Given the description of an element on the screen output the (x, y) to click on. 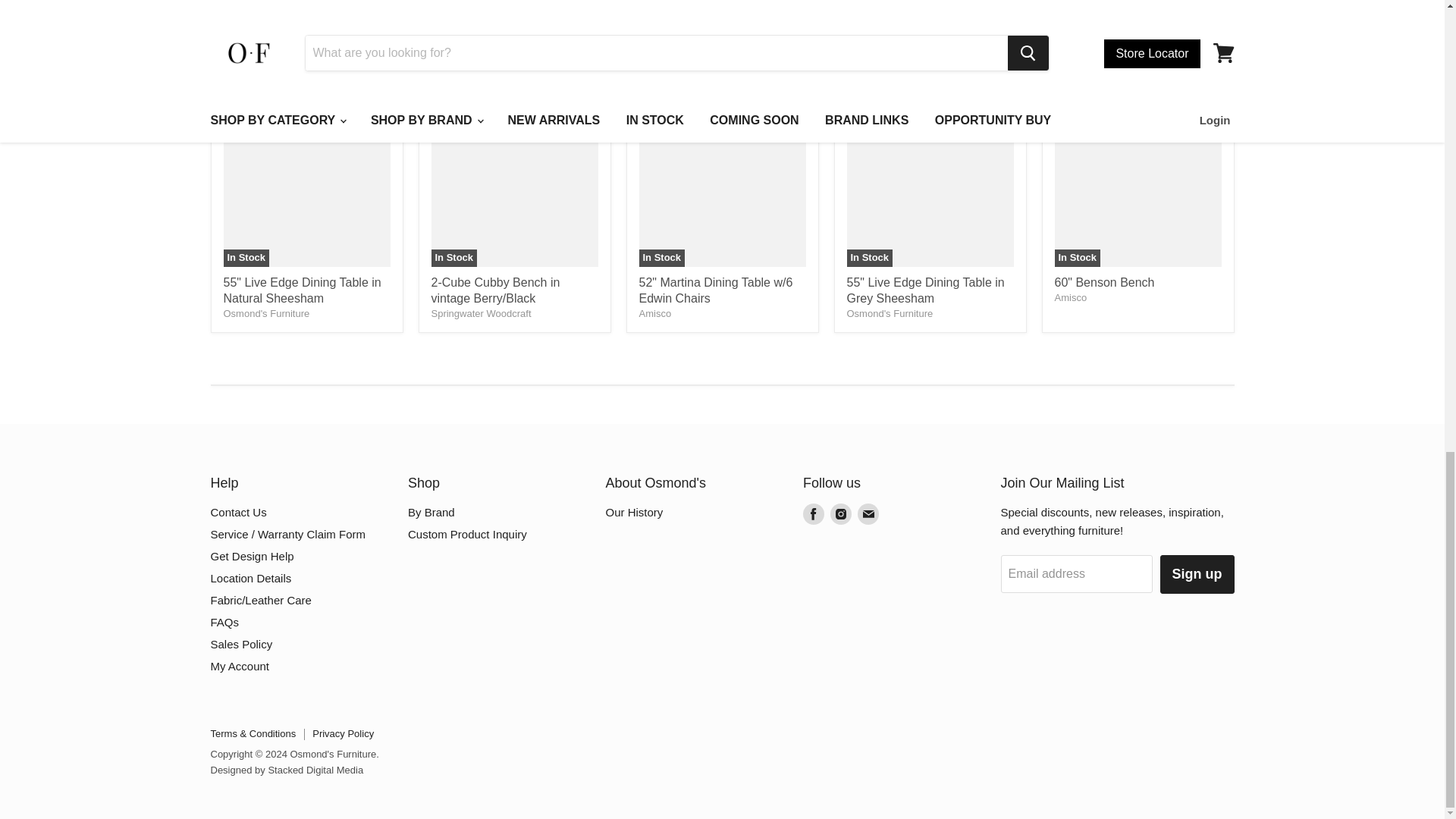
Instagram (840, 513)
Amisco (655, 313)
Facebook (813, 513)
E-mail (868, 513)
Osmond's Furniture (889, 313)
Osmond's Furniture (265, 313)
Springwater Woodcraft (480, 313)
Amisco (1070, 297)
